Given the description of an element on the screen output the (x, y) to click on. 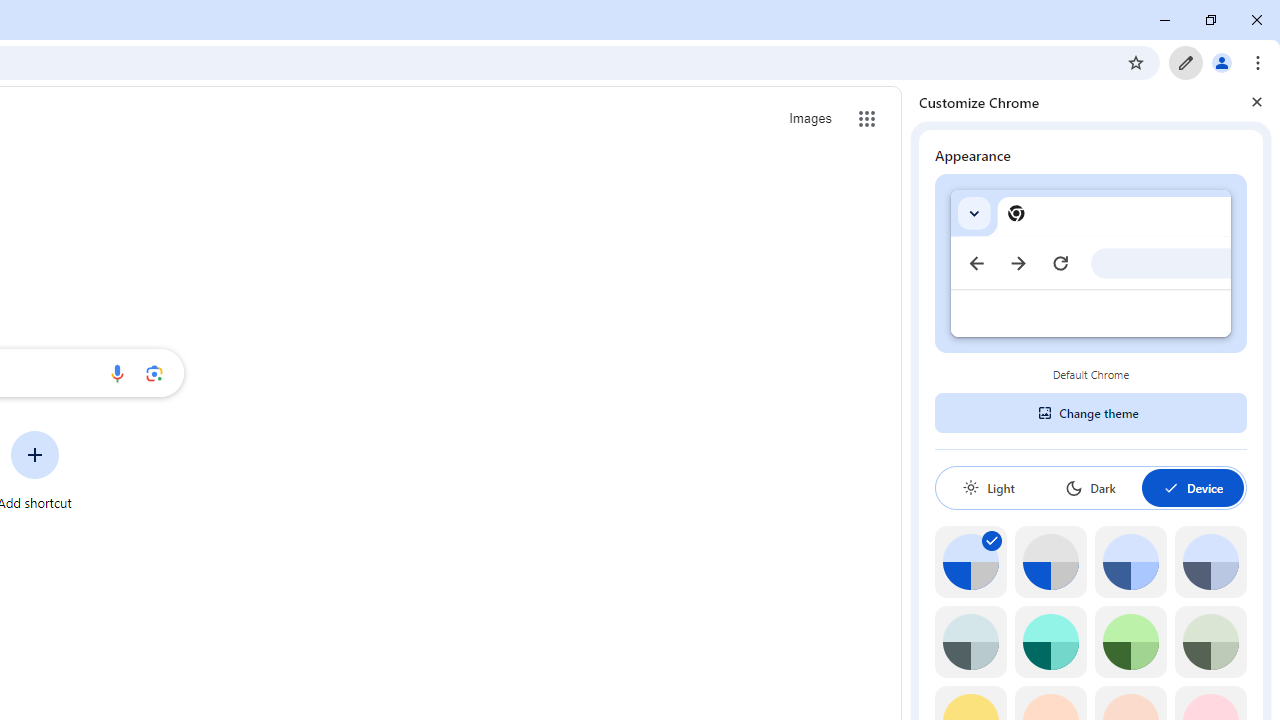
AutomationID: baseSvg (1170, 488)
Search by image (153, 372)
Default Chrome (1091, 263)
Customize Chrome (1185, 62)
Dark (1090, 487)
Device (1192, 487)
Default color (970, 562)
Search for Images  (810, 119)
